Given the description of an element on the screen output the (x, y) to click on. 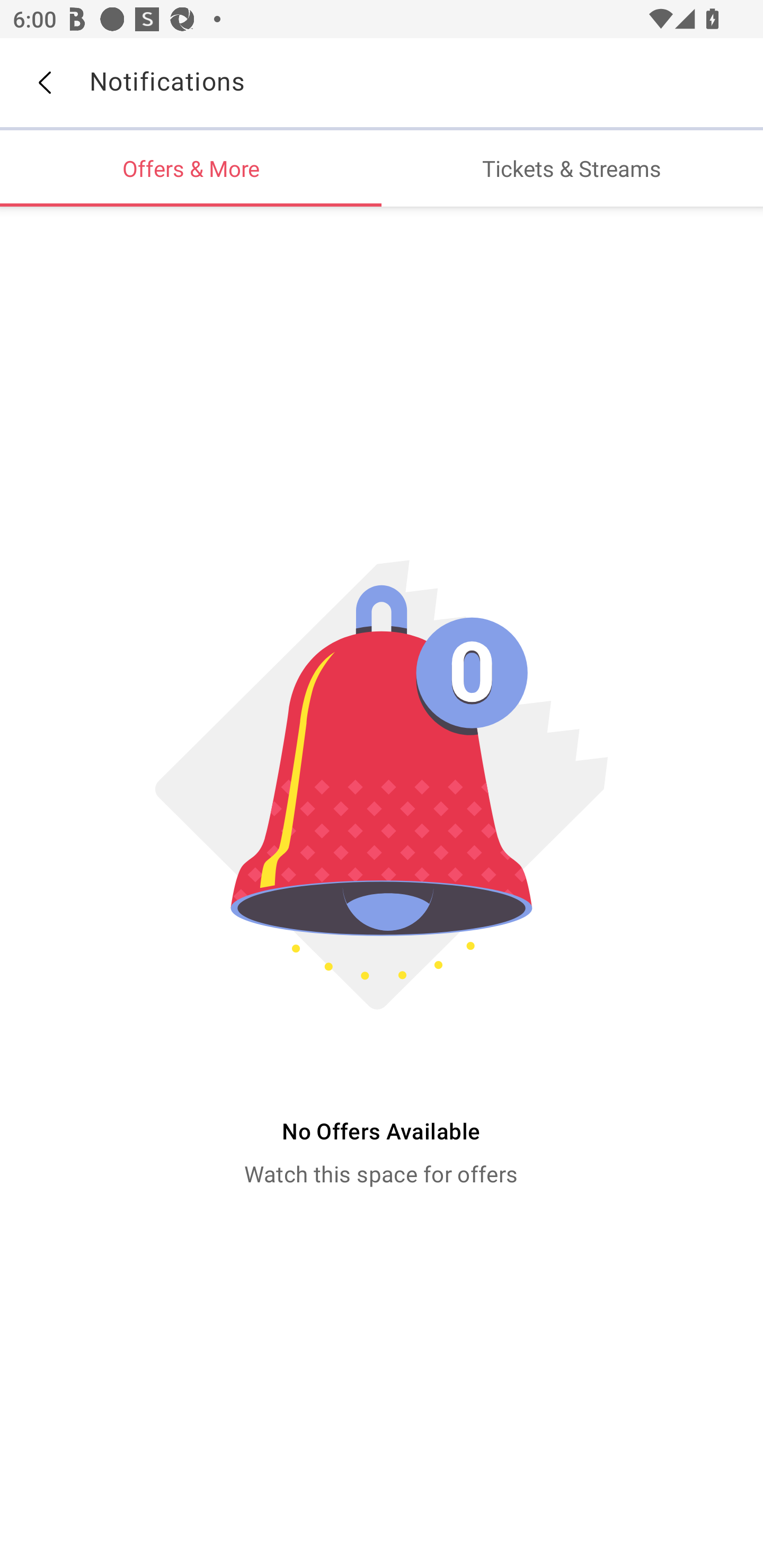
Back (44, 82)
Tickets & Streams (572, 168)
